Given the description of an element on the screen output the (x, y) to click on. 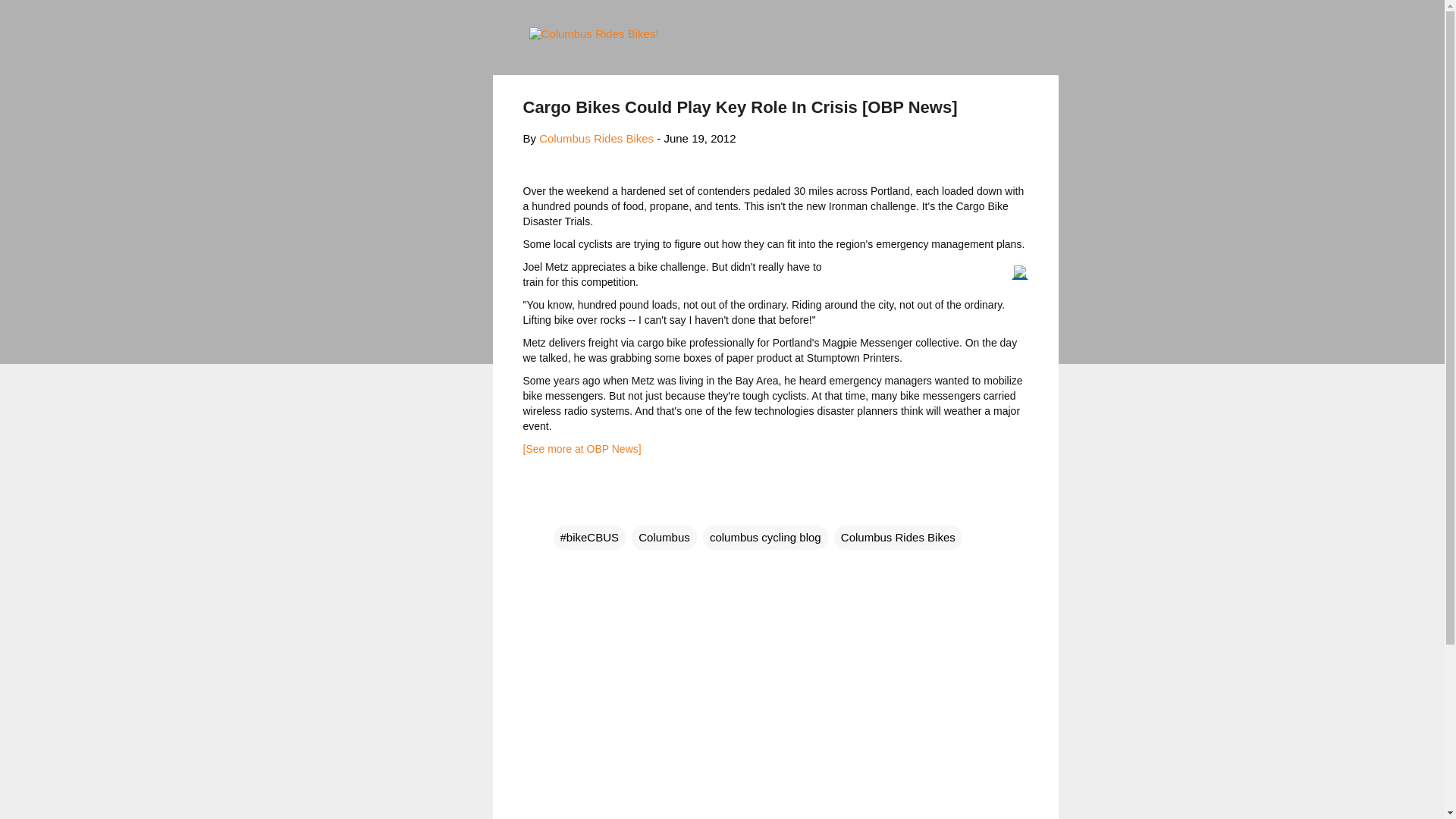
permanent link (699, 137)
Columbus (664, 536)
author profile (595, 137)
Columbus Rides Bikes (898, 536)
columbus cycling blog (765, 536)
Columbus Rides Bikes (595, 137)
Email Post (562, 506)
June 19, 2012 (699, 137)
Search (29, 18)
